Given the description of an element on the screen output the (x, y) to click on. 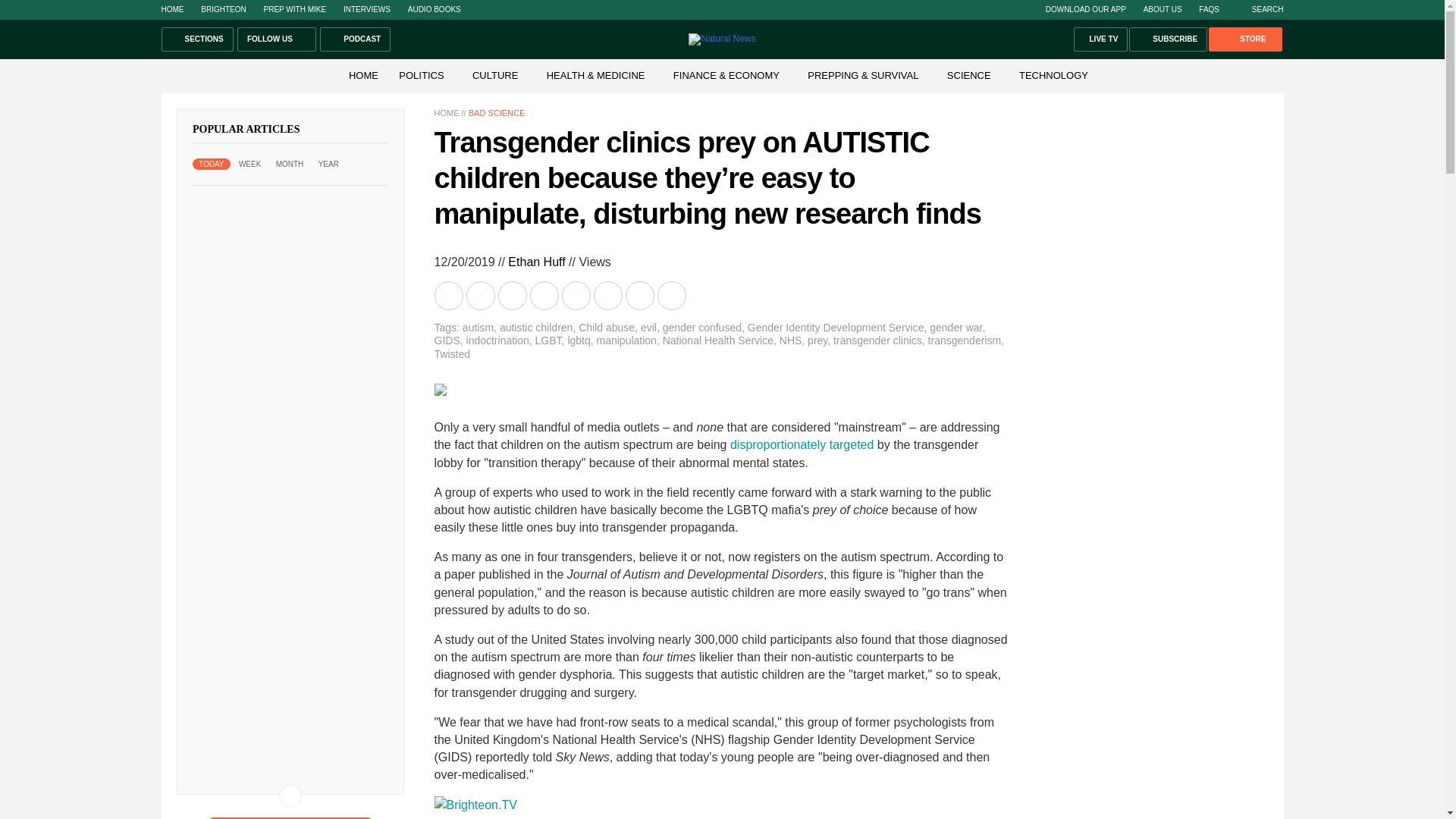
STORE (1244, 39)
SEARCH (1260, 8)
LIVE TV (1101, 39)
Share on Facebook (481, 295)
Share on Gettr (640, 295)
Share on GAB (576, 295)
Scroll Down (290, 795)
SUBSCRIBE (1168, 39)
SCIENCE (968, 75)
PREP WITH MIKE (294, 8)
HOME (171, 8)
POLITICS (421, 75)
CULTURE (495, 75)
Share on Brighteon.Social (449, 295)
